Given the description of an element on the screen output the (x, y) to click on. 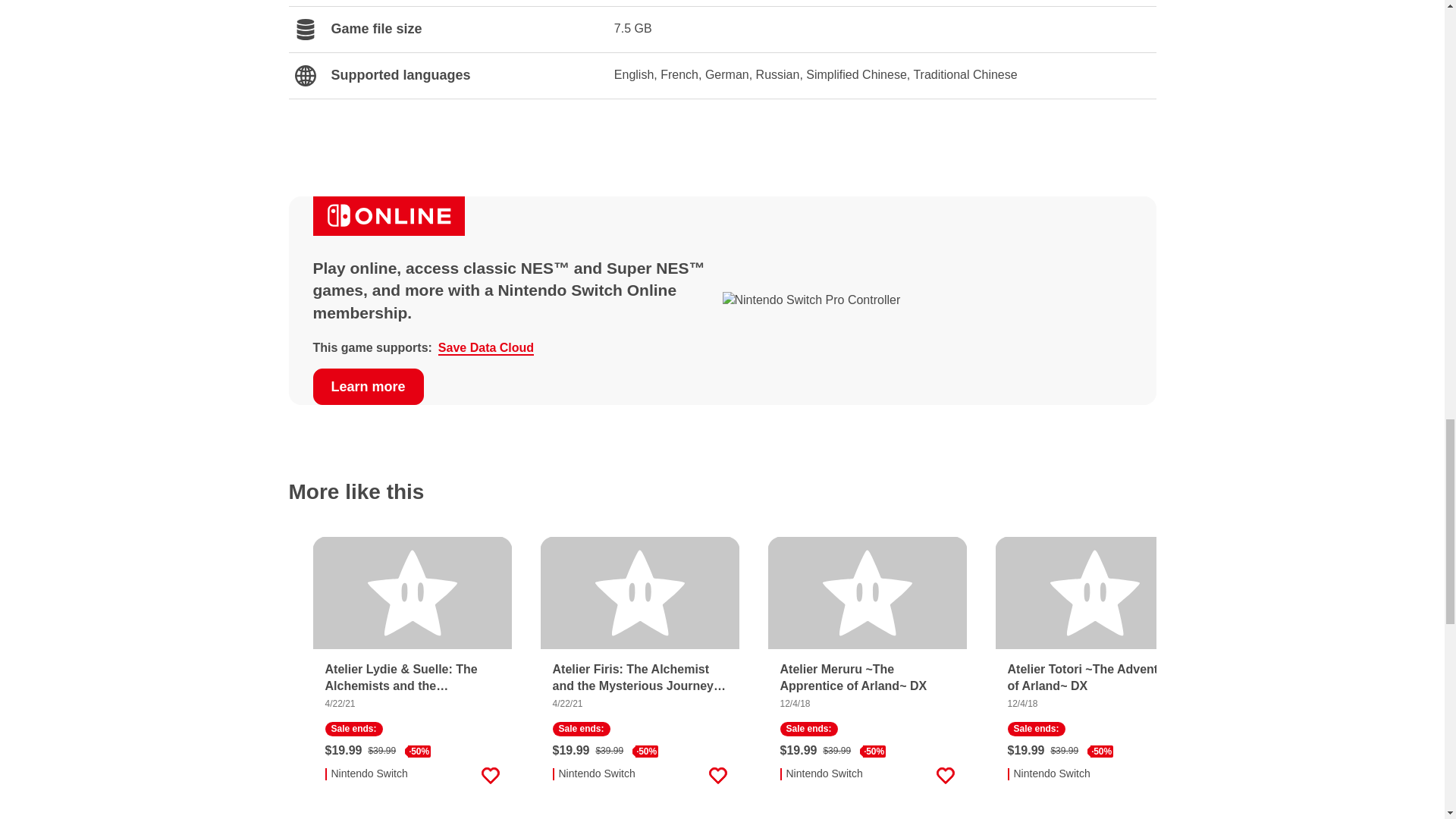
Add to Wish List (716, 775)
Add to Wish List (1172, 775)
Add to Wish List (944, 775)
Add to Wish List (489, 775)
